Given the description of an element on the screen output the (x, y) to click on. 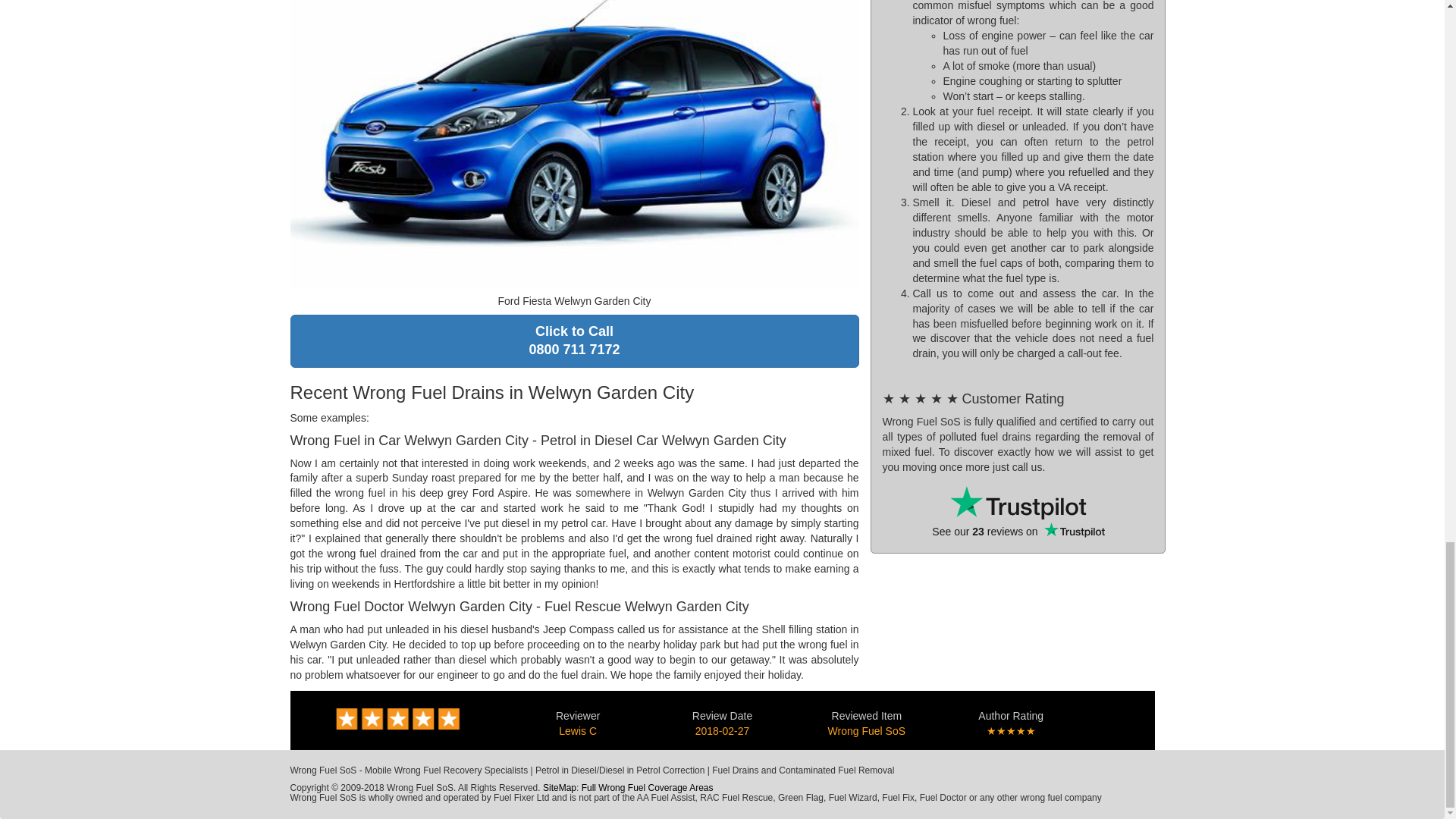
Wrong Fuel SoS (866, 730)
Reviews (397, 718)
Customer reviews powered by Trustpilot (1018, 502)
SiteMap (574, 340)
Full Wrong Fuel Coverage Areas (559, 787)
Customer reviews powered by Trustpilot (646, 787)
